Given the description of an element on the screen output the (x, y) to click on. 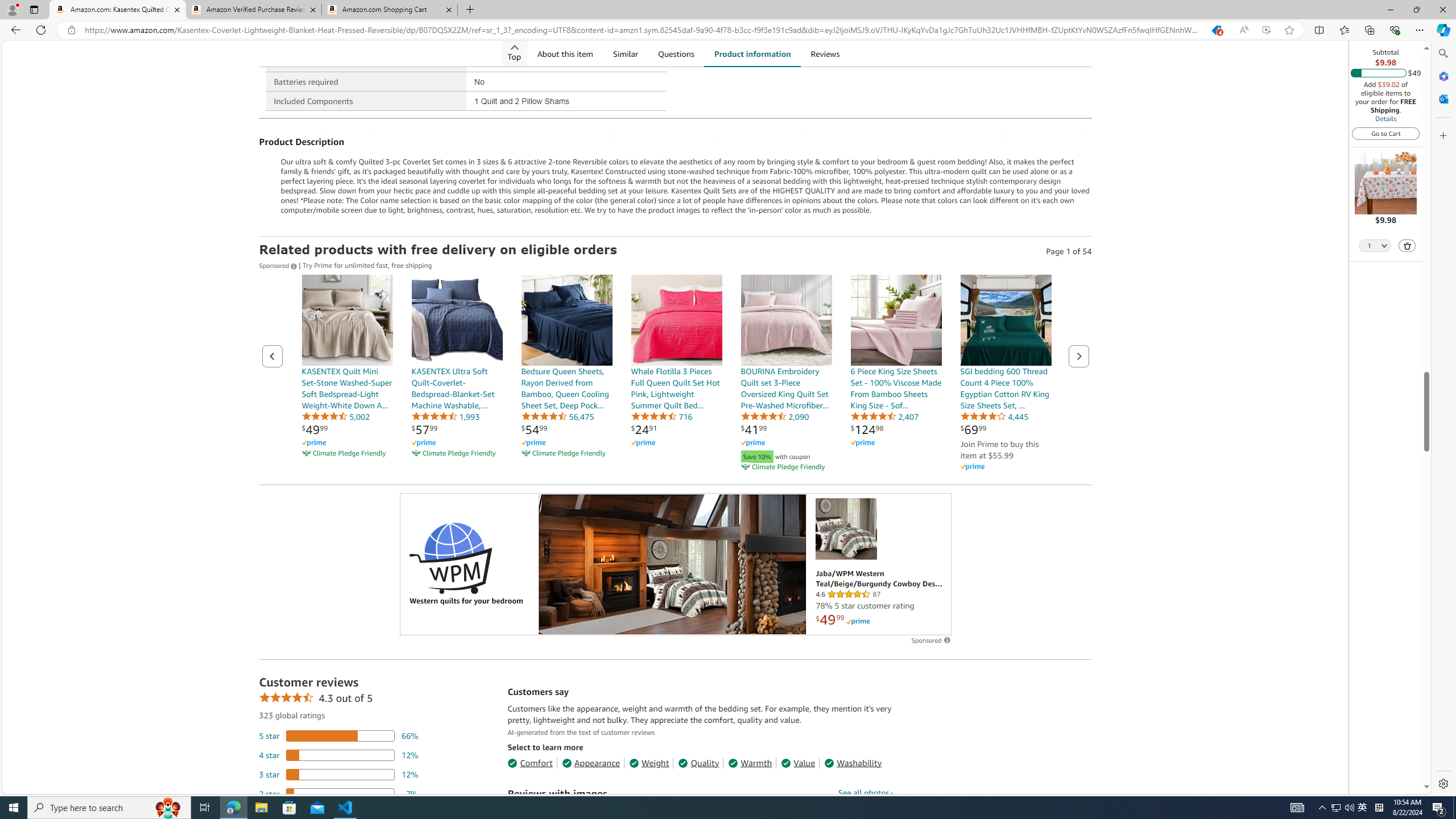
5,002 (335, 416)
$49.99 (314, 429)
66 percent of reviews have 5 stars (339, 735)
Top (513, 53)
Sponsored  (278, 264)
Warmth (749, 762)
